Given the description of an element on the screen output the (x, y) to click on. 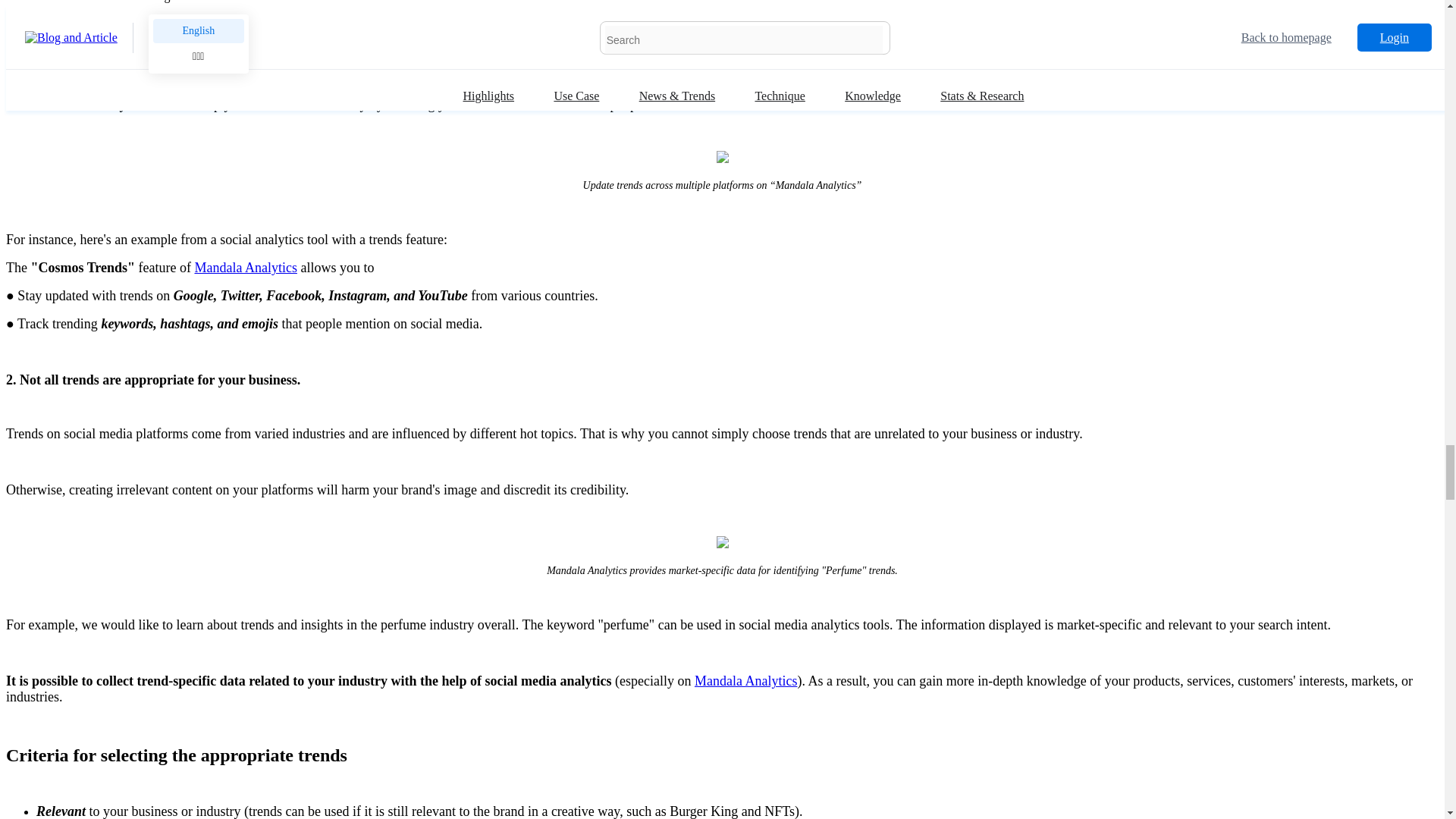
Mandala Analytics (745, 680)
Mandala Analytics (245, 267)
